Given the description of an element on the screen output the (x, y) to click on. 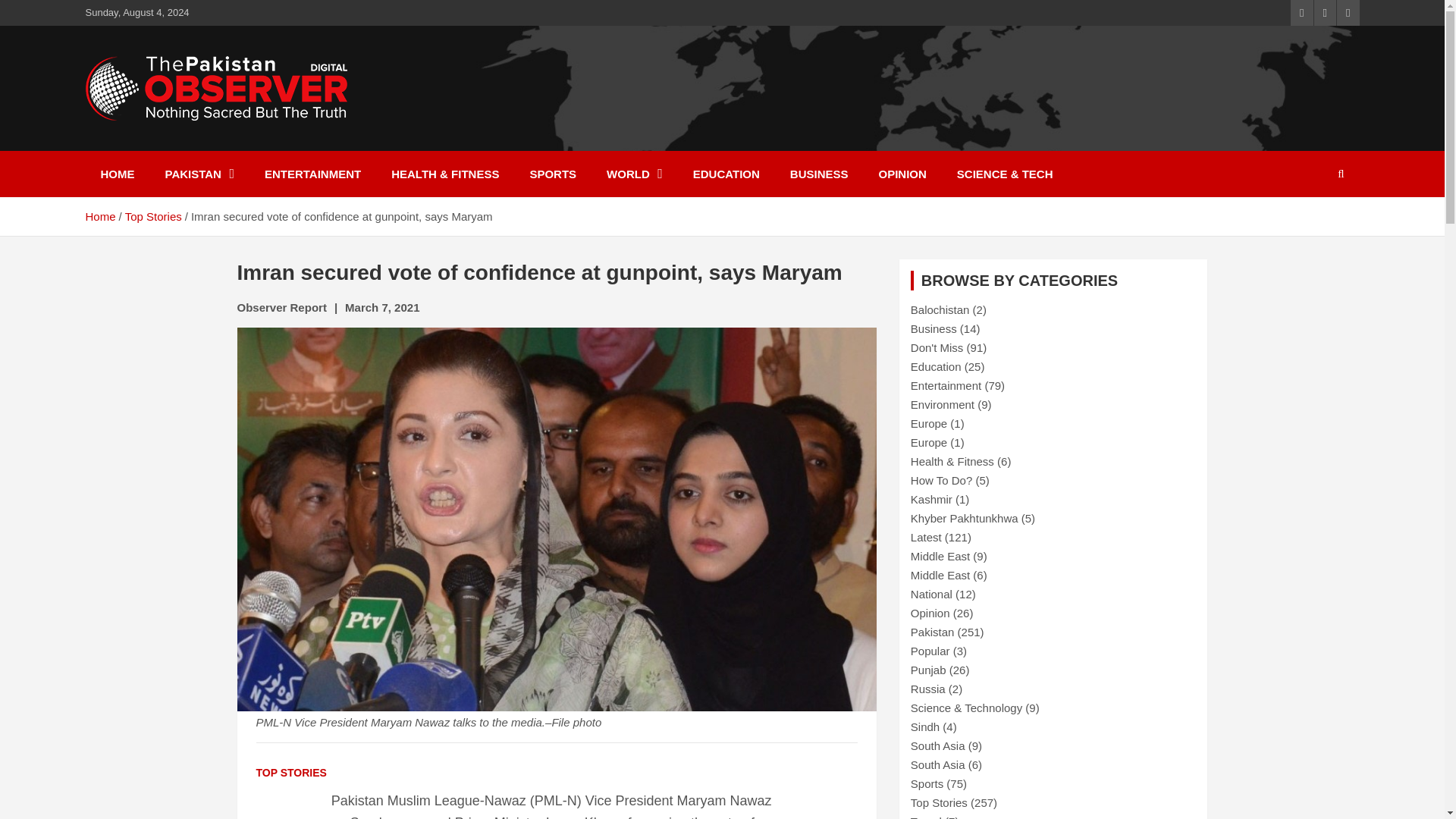
March 7, 2021 (382, 307)
PAKISTAN (198, 173)
The Pakistan Observer Digital (248, 159)
Home (99, 215)
SPORTS (552, 173)
WORLD (634, 173)
EDUCATION (726, 173)
TOP STORIES (291, 773)
ENTERTAINMENT (311, 173)
BUSINESS (818, 173)
OPINION (901, 173)
Observer Report (280, 307)
Top Stories (153, 215)
Imran secured vote of confidence at gunpoint, says Maryam (382, 307)
HOME (116, 173)
